Given the description of an element on the screen output the (x, y) to click on. 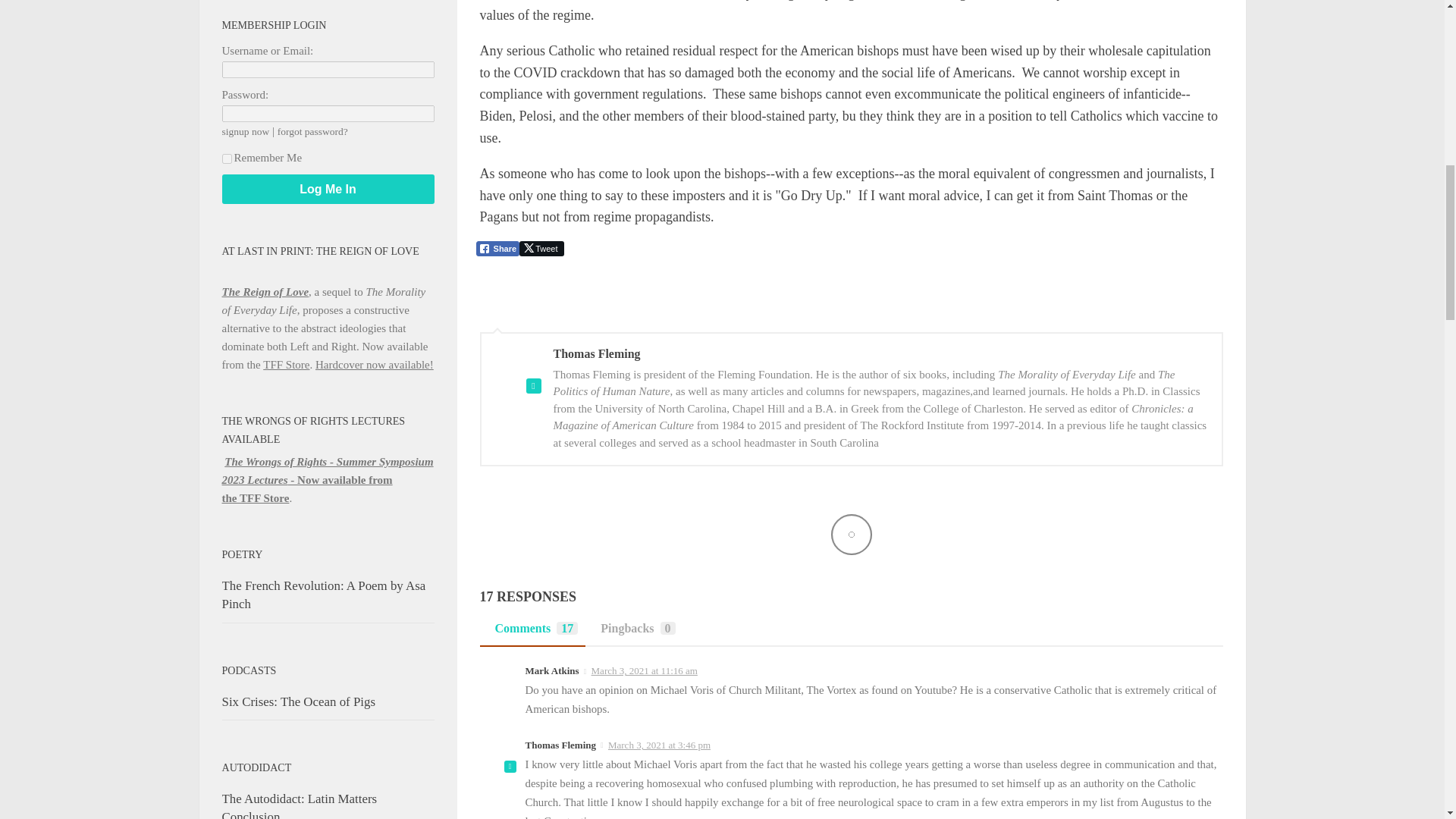
Username (327, 69)
Password (327, 113)
Log Me In (327, 188)
forever (226, 158)
